Given the description of an element on the screen output the (x, y) to click on. 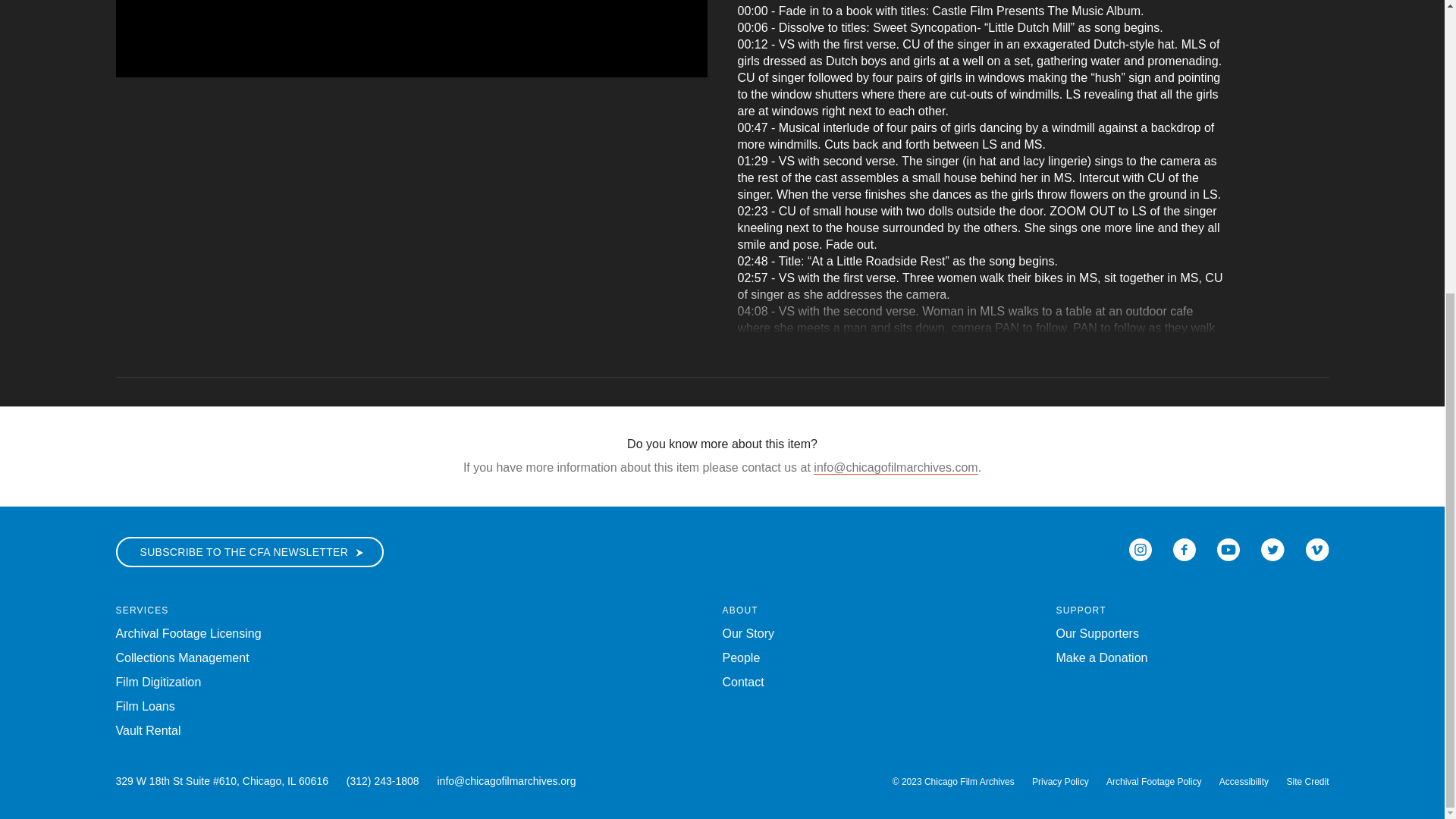
Open Icon-vimeo in a new Window (1317, 548)
Open Icon-instagram in a new Window (1140, 548)
Open Icon-twitter in a new Window (1272, 548)
Open Icon-youtube in a new Window (1228, 548)
Open Icon-facebook in a new Window (1184, 548)
